Given the description of an element on the screen output the (x, y) to click on. 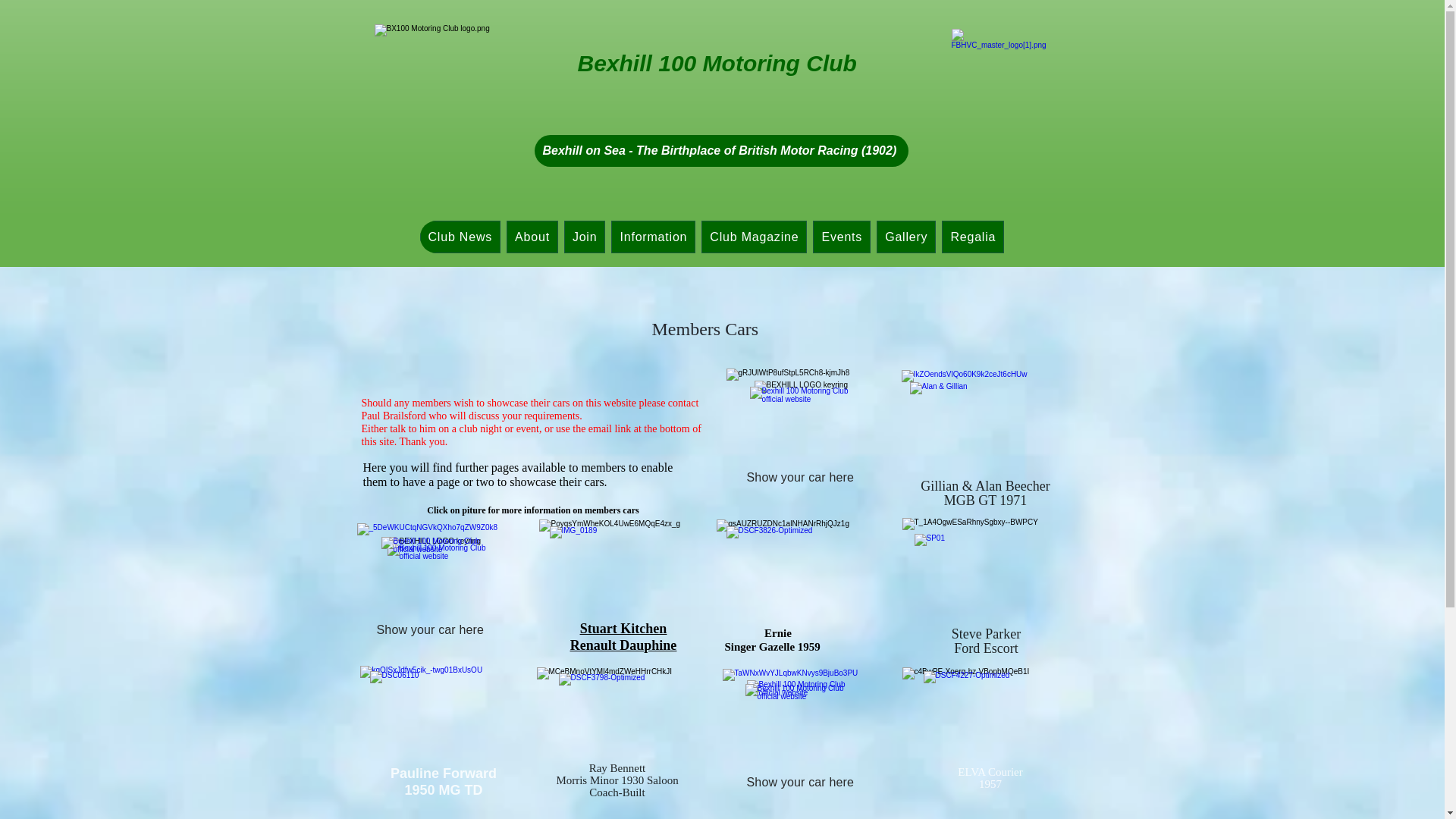
Club Magazine (753, 236)
Club News (460, 236)
Join (584, 236)
Renault Dauphine (623, 645)
Regalia (973, 236)
Stuart Kitchen (622, 628)
